Given the description of an element on the screen output the (x, y) to click on. 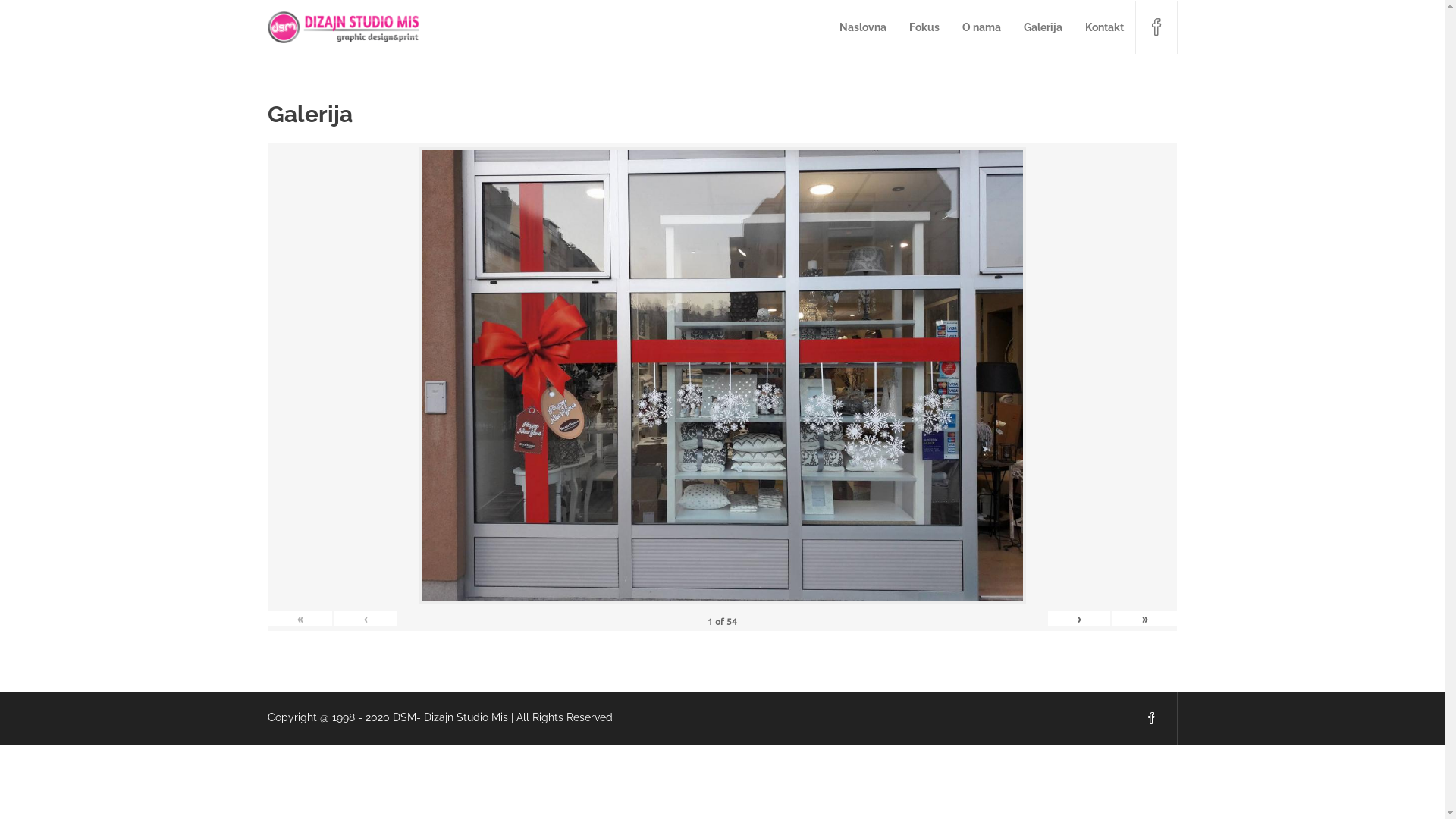
Fokus Element type: text (923, 26)
Kontakt Element type: text (1103, 26)
Naslovna Element type: text (861, 26)
O nama Element type: text (980, 26)
Galerija Element type: text (1042, 26)
